Given the description of an element on the screen output the (x, y) to click on. 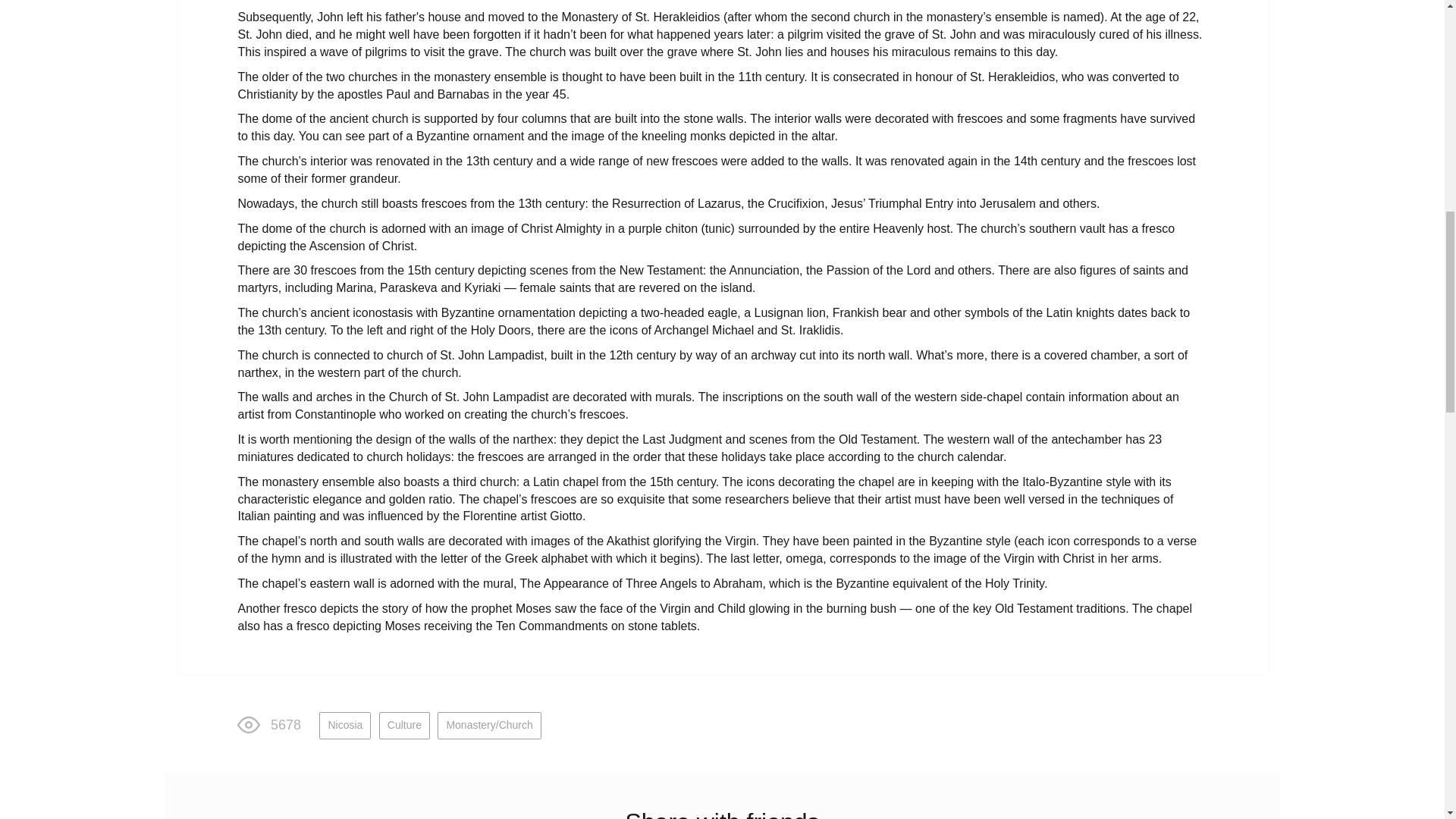
Culture (403, 725)
Nicosia (344, 725)
